Given the description of an element on the screen output the (x, y) to click on. 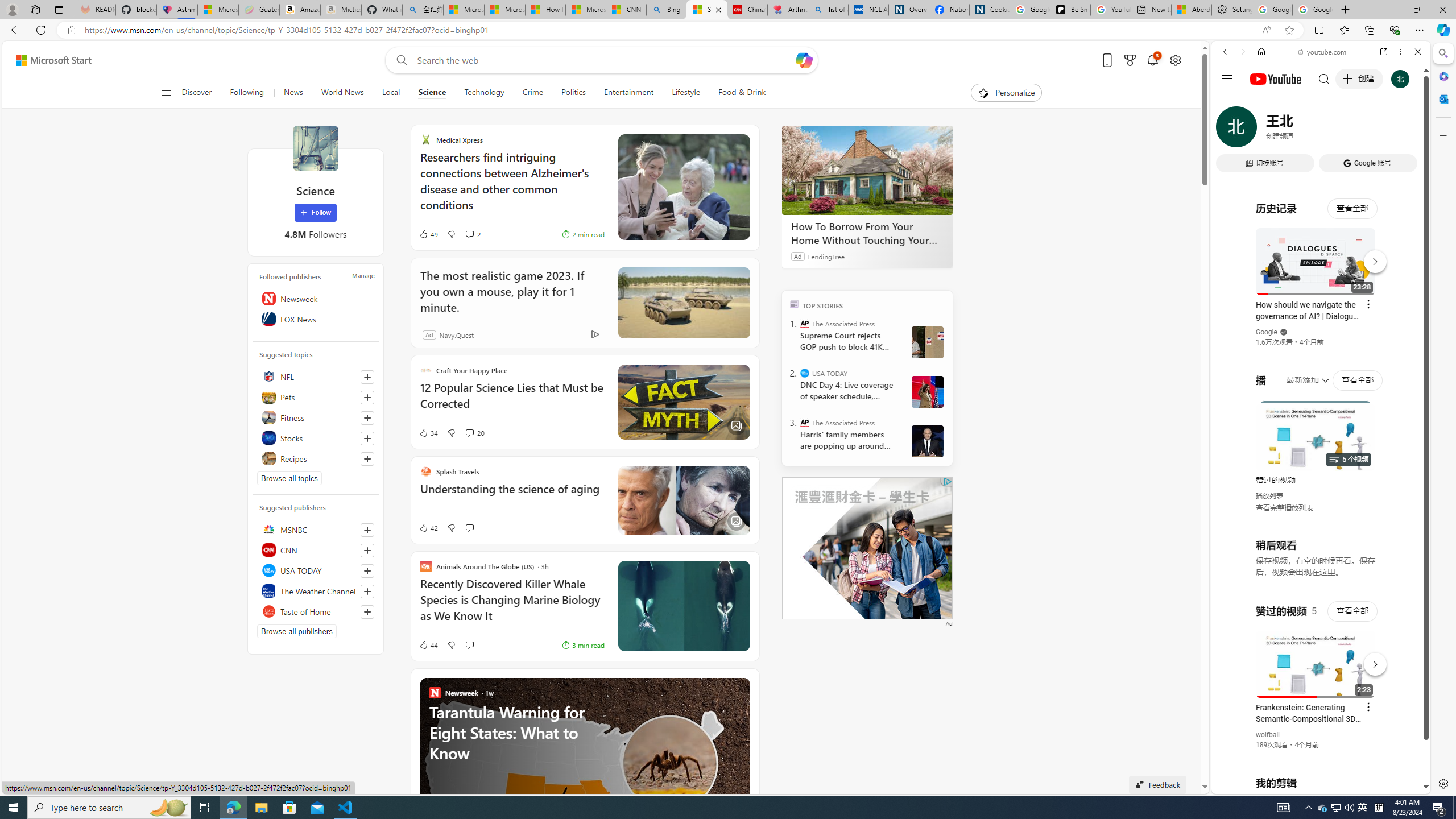
CNN - MSN (625, 9)
Close Outlook pane (1442, 98)
This site scope (1259, 102)
wolfball (1268, 734)
Web search (398, 60)
Close tab (718, 9)
Notifications (1152, 60)
49 Like (427, 233)
Microsoft Start (53, 60)
World News (342, 92)
Browse all publishers (296, 631)
Start the conversation (469, 645)
FOX News (315, 318)
